Given the description of an element on the screen output the (x, y) to click on. 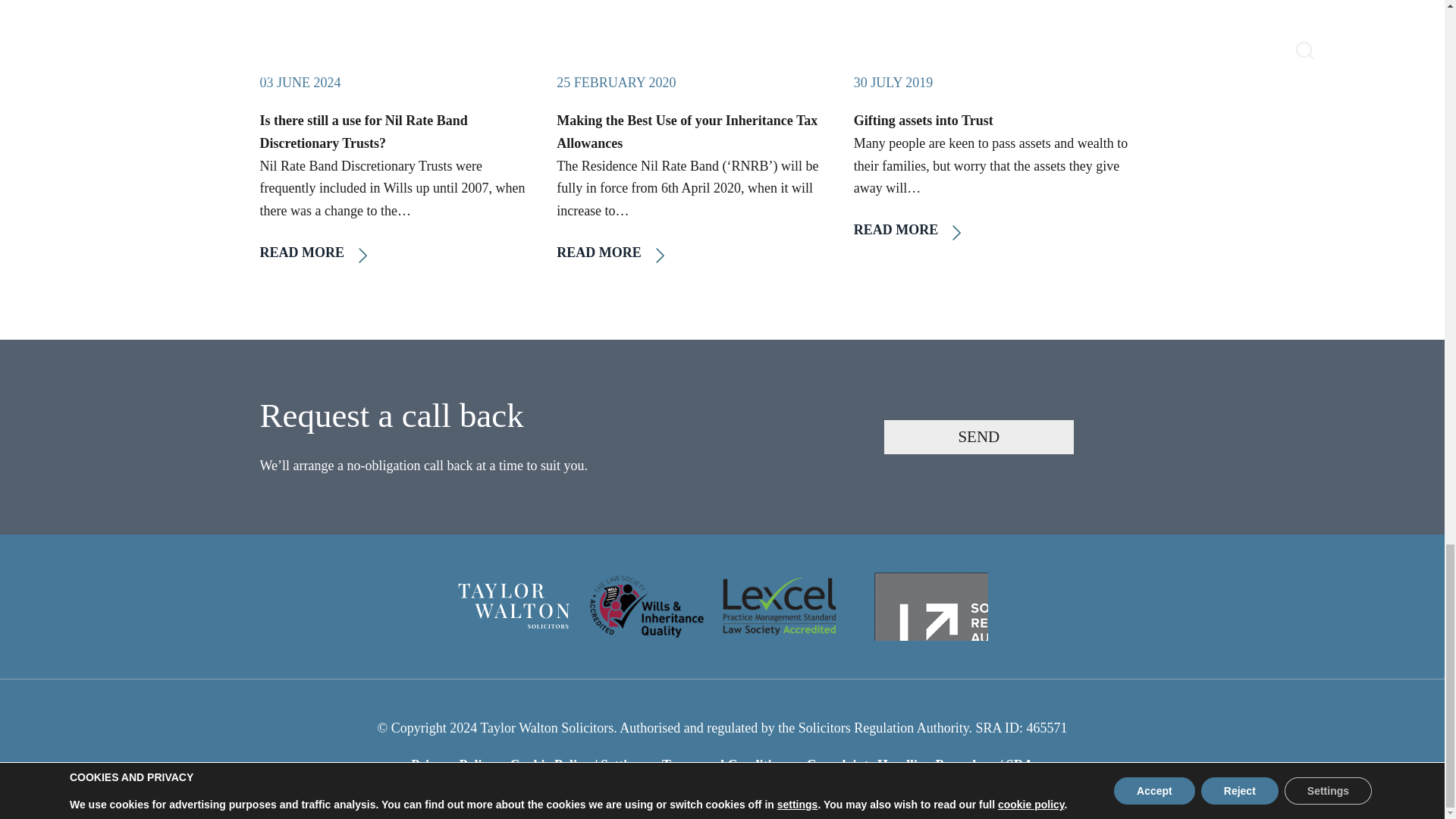
READ MORE (396, 252)
READ MORE (990, 230)
READ MORE (693, 252)
SEND (978, 437)
